Given the description of an element on the screen output the (x, y) to click on. 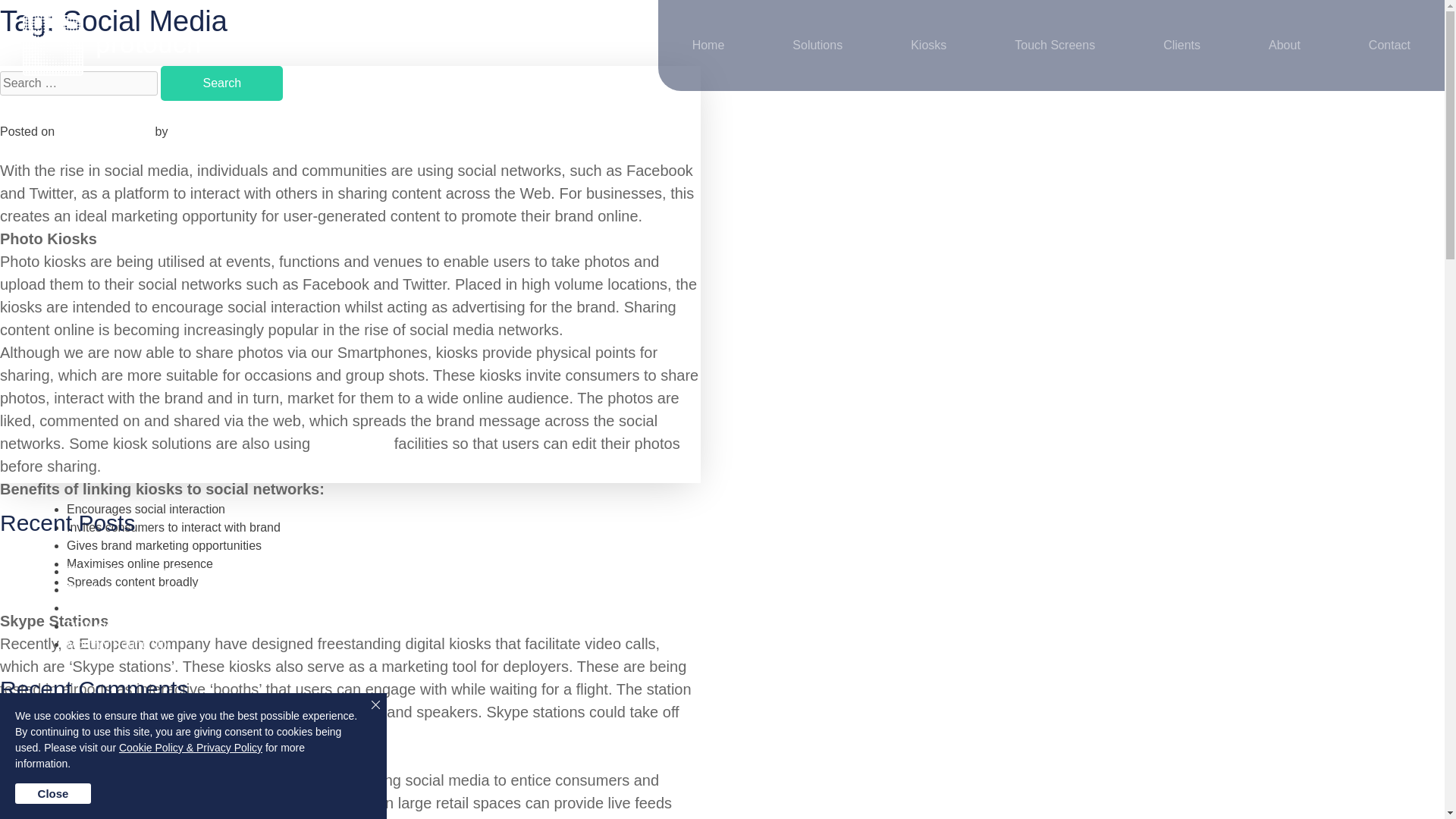
Search (221, 83)
Tom Quarry (202, 131)
Search (221, 83)
Clients (1181, 45)
Keeping Kiosk Uptime At A Maximum (166, 607)
DDA Kiosks; Why it matters (140, 625)
March 2018 (98, 793)
About (1284, 45)
ZipWorld introduce Protouch kiosks for customer sign in (216, 571)
Touch Screens (1054, 45)
Home (708, 45)
Kiosks (927, 45)
digital signage (161, 780)
Solutions (817, 45)
Thistle Hotels Go Beyond The Typical WiFi Connectivity (216, 589)
